Given the description of an element on the screen output the (x, y) to click on. 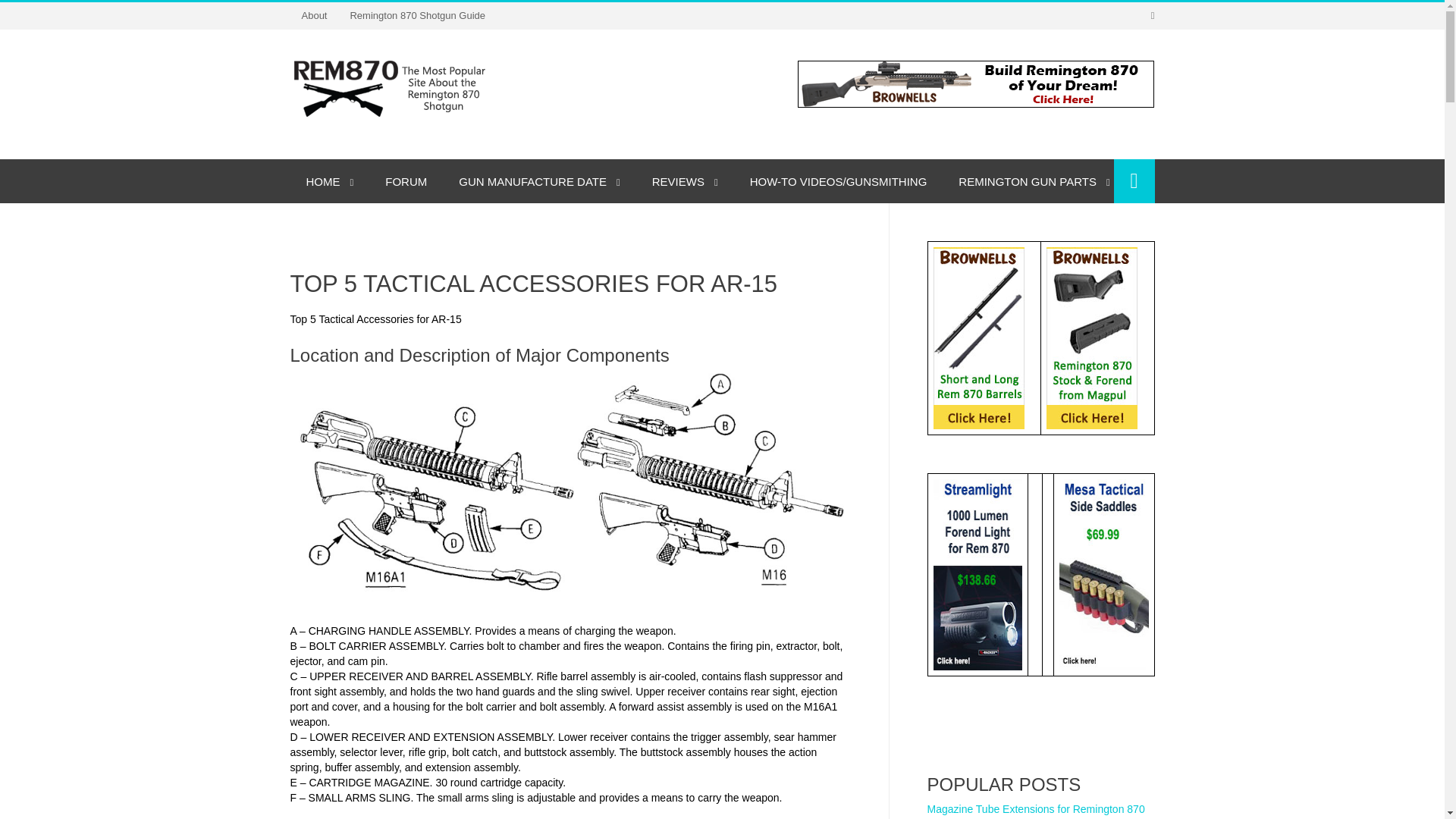
REMINGTON GUN PARTS (1033, 180)
FORUM (405, 180)
Remington 870 Shotgun Guide (416, 15)
HOME (329, 180)
About (313, 15)
GUN MANUFACTURE DATE (538, 180)
REVIEWS (684, 180)
